Given the description of an element on the screen output the (x, y) to click on. 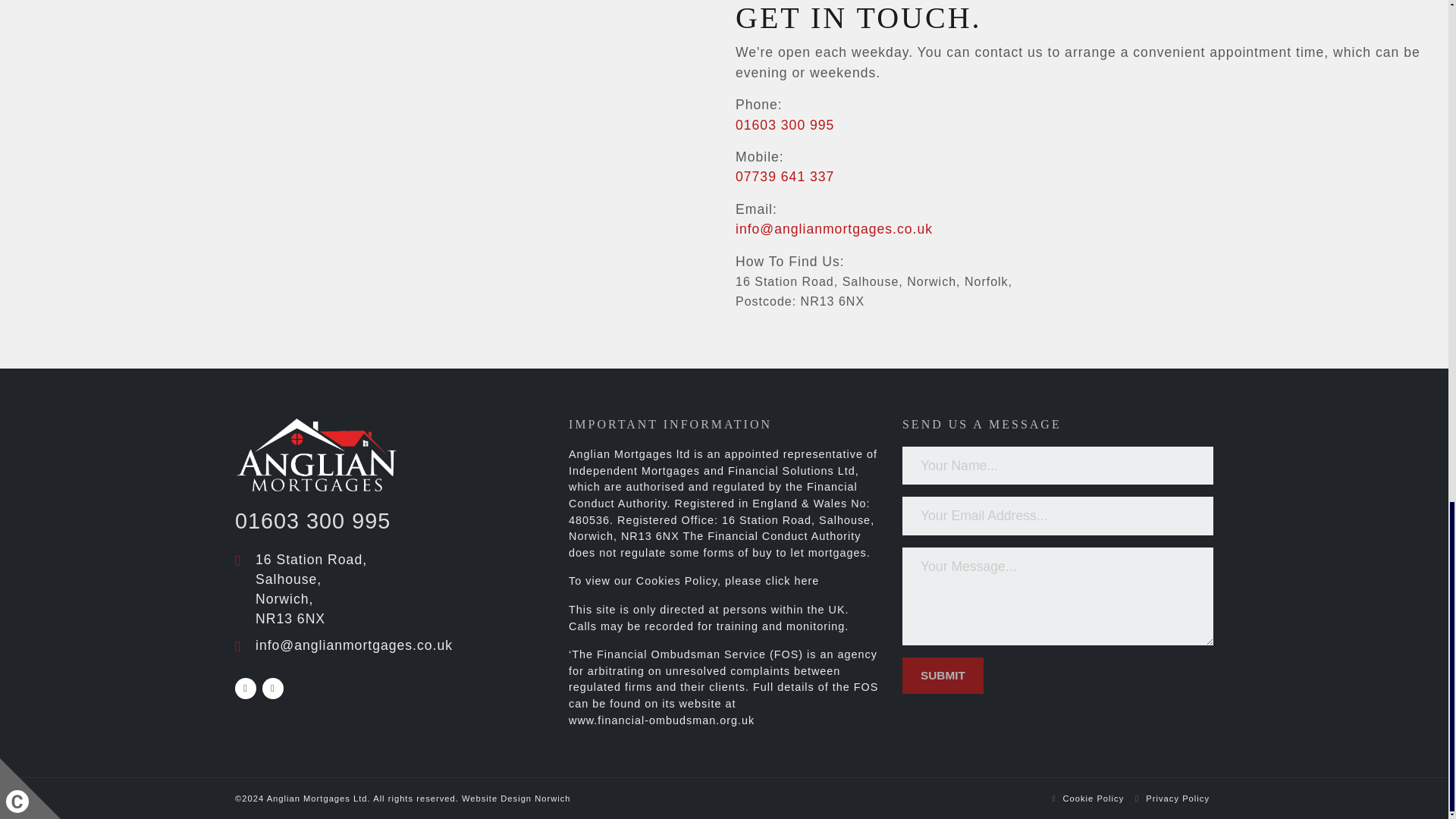
Submit (943, 675)
07739 641 337 (784, 176)
Submit (943, 675)
www.financial-ombudsman.org.uk (661, 720)
Link to Privacy Policy (1177, 798)
Facebook (245, 688)
Website Design Norwich (515, 798)
Call Anglian Mortgages (784, 176)
01603 300 995 (784, 124)
click here (791, 581)
